Given the description of an element on the screen output the (x, y) to click on. 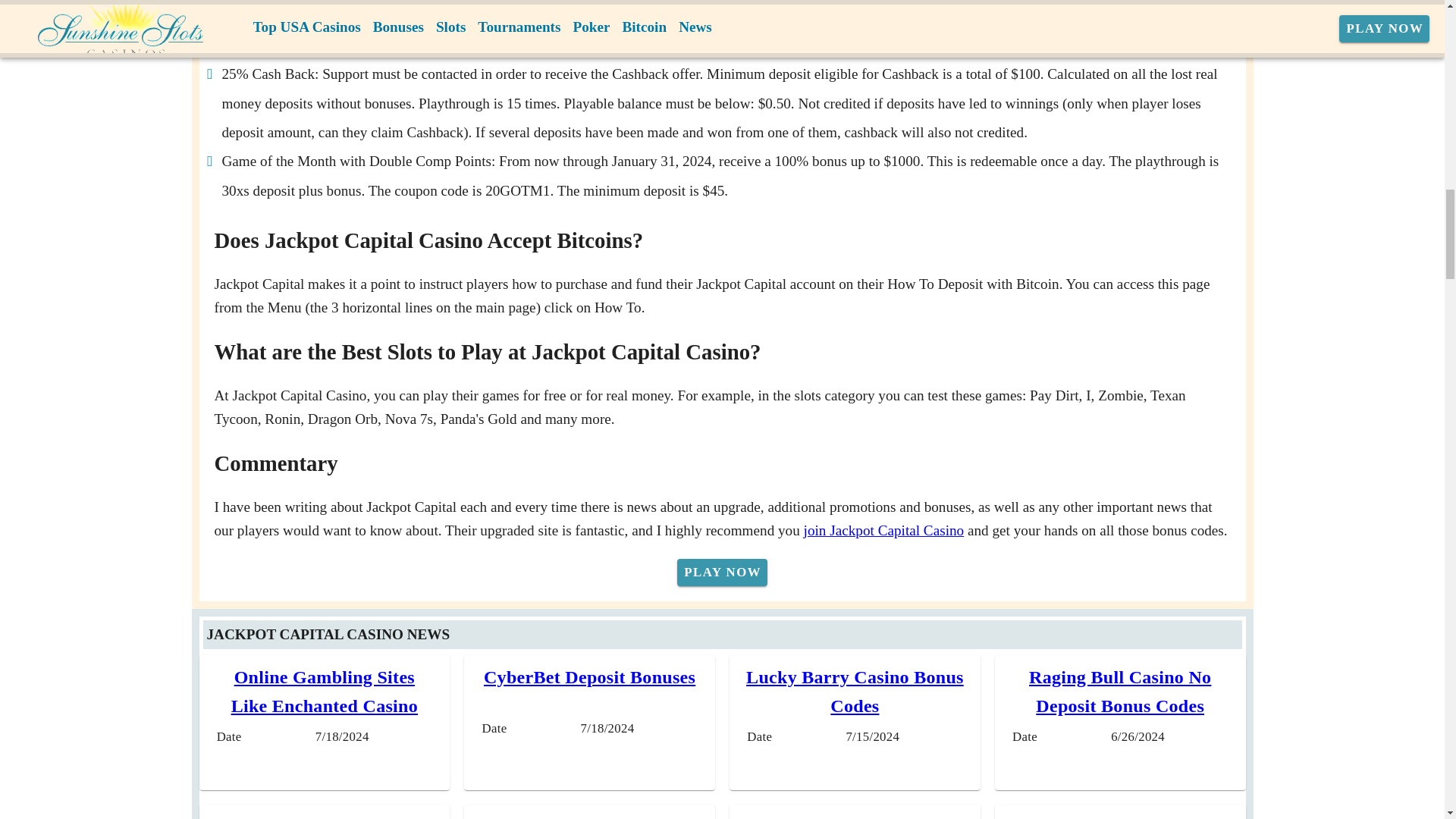
join Jackpot Capital Casino (883, 530)
Cafe Casino No Deposit Bonus Codes (854, 817)
Limitless Casino Sister Casinos (589, 817)
Online Gambling Sites Like Enchanted Casino (324, 691)
Lucky Barry Casino Bonus Codes (854, 691)
Raging Bull Casino No Deposit Bonus Codes (1120, 691)
PLAY NOW (722, 572)
Sunny Wins Casino (324, 817)
SkyCrown No Deposit Bonus Codes (1120, 817)
CyberBet Deposit Bonuses (589, 677)
